Given the description of an element on the screen output the (x, y) to click on. 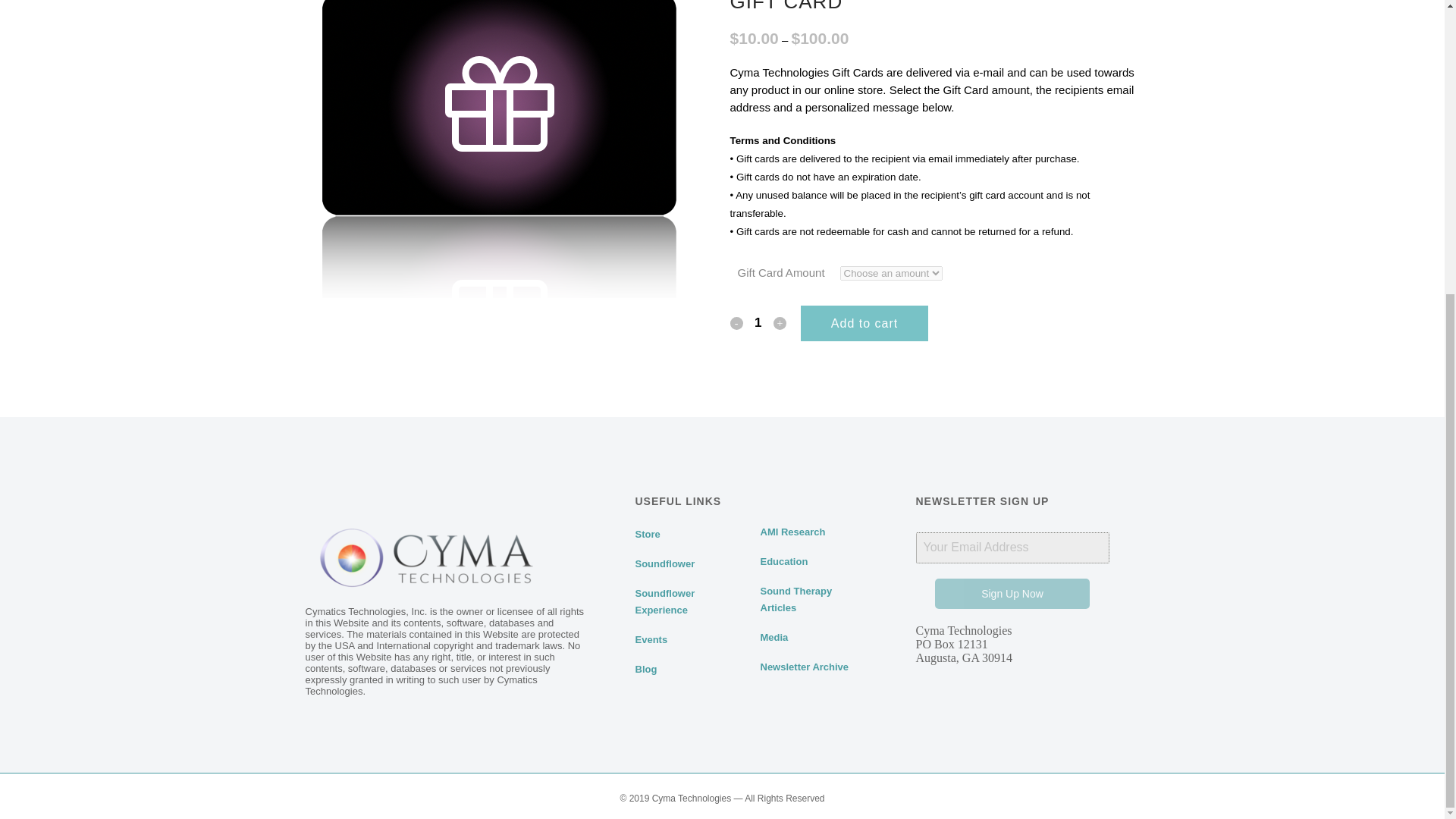
pw-gift-card (498, 149)
- (736, 323)
1 (757, 322)
